Given the description of an element on the screen output the (x, y) to click on. 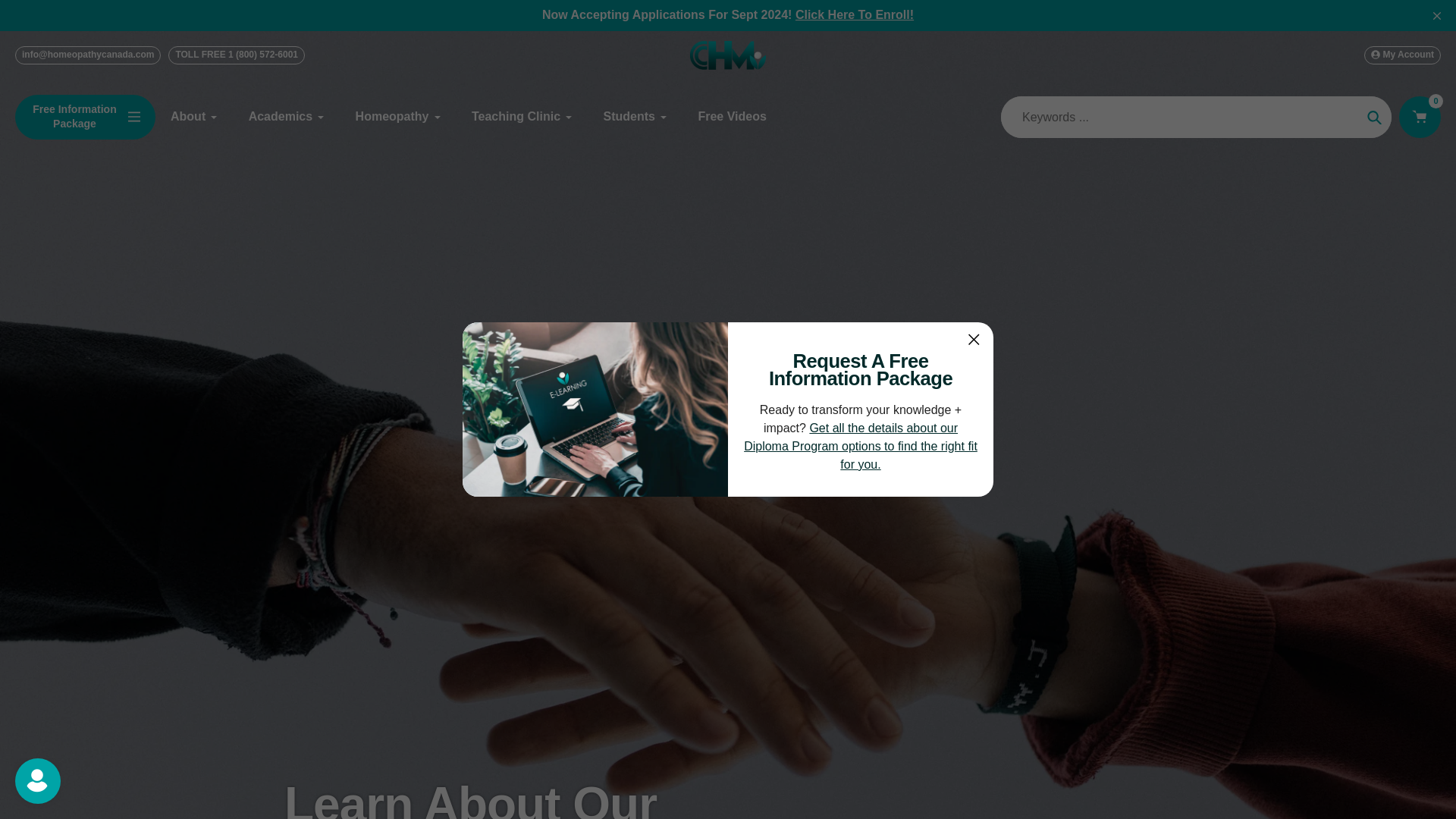
FREE Information Packet (860, 445)
Academics (287, 116)
Mini Account Customer Account Launcher (30, 788)
About (194, 116)
Free Information Package (84, 117)
Click Here To Enroll! (854, 14)
My Account (1402, 54)
Application (854, 14)
